Given the description of an element on the screen output the (x, y) to click on. 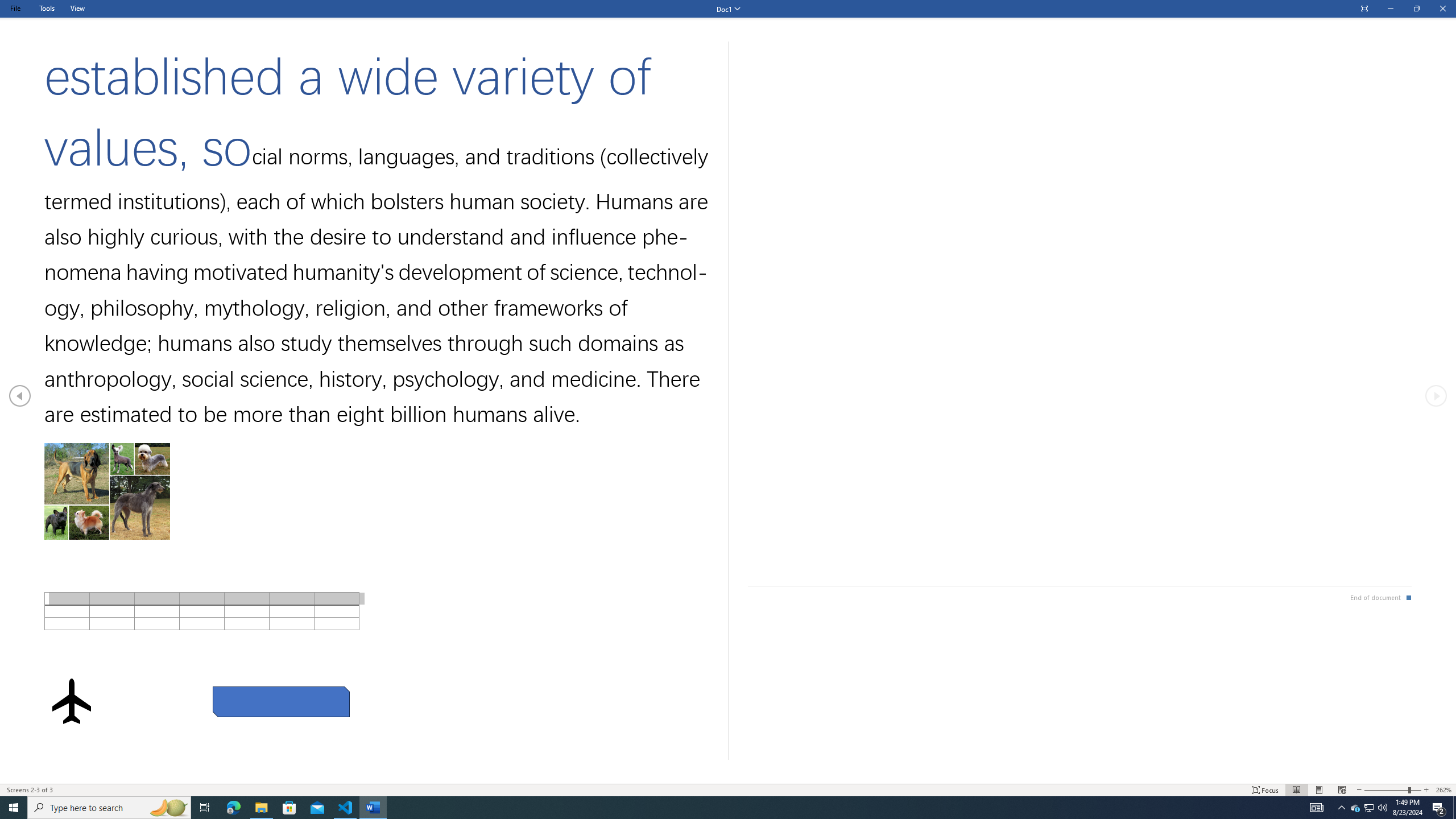
Auto-hide Reading Toolbar (1364, 9)
Minimize (1390, 9)
Class: NetUIScrollBar (728, 778)
Print Layout (1318, 790)
Close (1442, 9)
Restore Down (1416, 9)
Rectangle: Diagonal Corners Snipped 2 (280, 701)
View (77, 8)
Zoom Out (1385, 790)
Web Layout (1342, 790)
Read Mode (1296, 790)
Airplane with solid fill (71, 701)
